Given the description of an element on the screen output the (x, y) to click on. 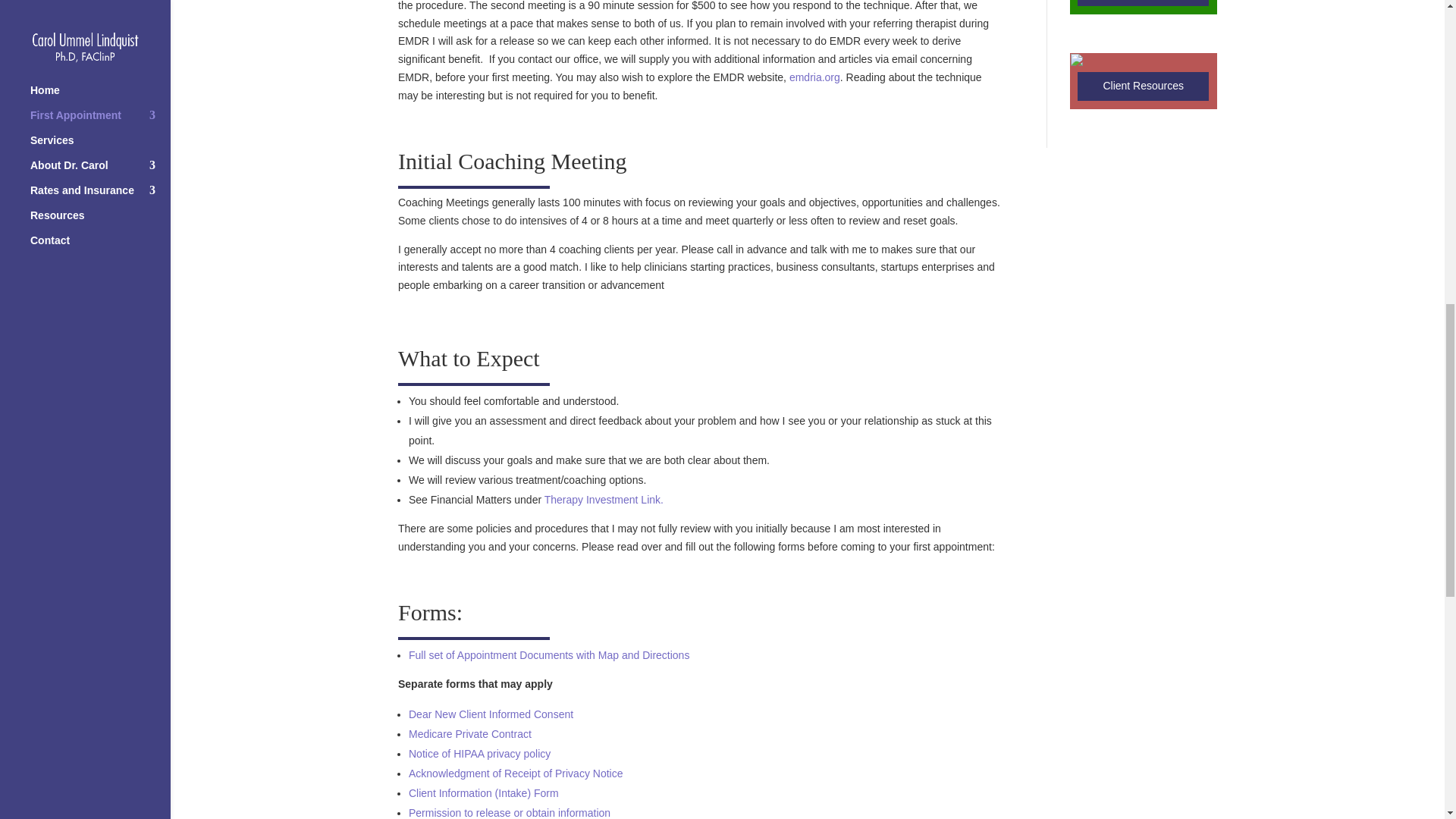
Medicare Private Contract (470, 734)
Notice of HIPAA privacy policy (479, 753)
Therapy Investment Link. (603, 499)
Acknowledgment of Receipt of Privacy Notice (516, 773)
Dear New Client Informed Consent (491, 714)
Full set of Appointment Documents with Map and Directions (548, 654)
Permission to release or obtain information (509, 812)
emdria.org (814, 77)
